Given the description of an element on the screen output the (x, y) to click on. 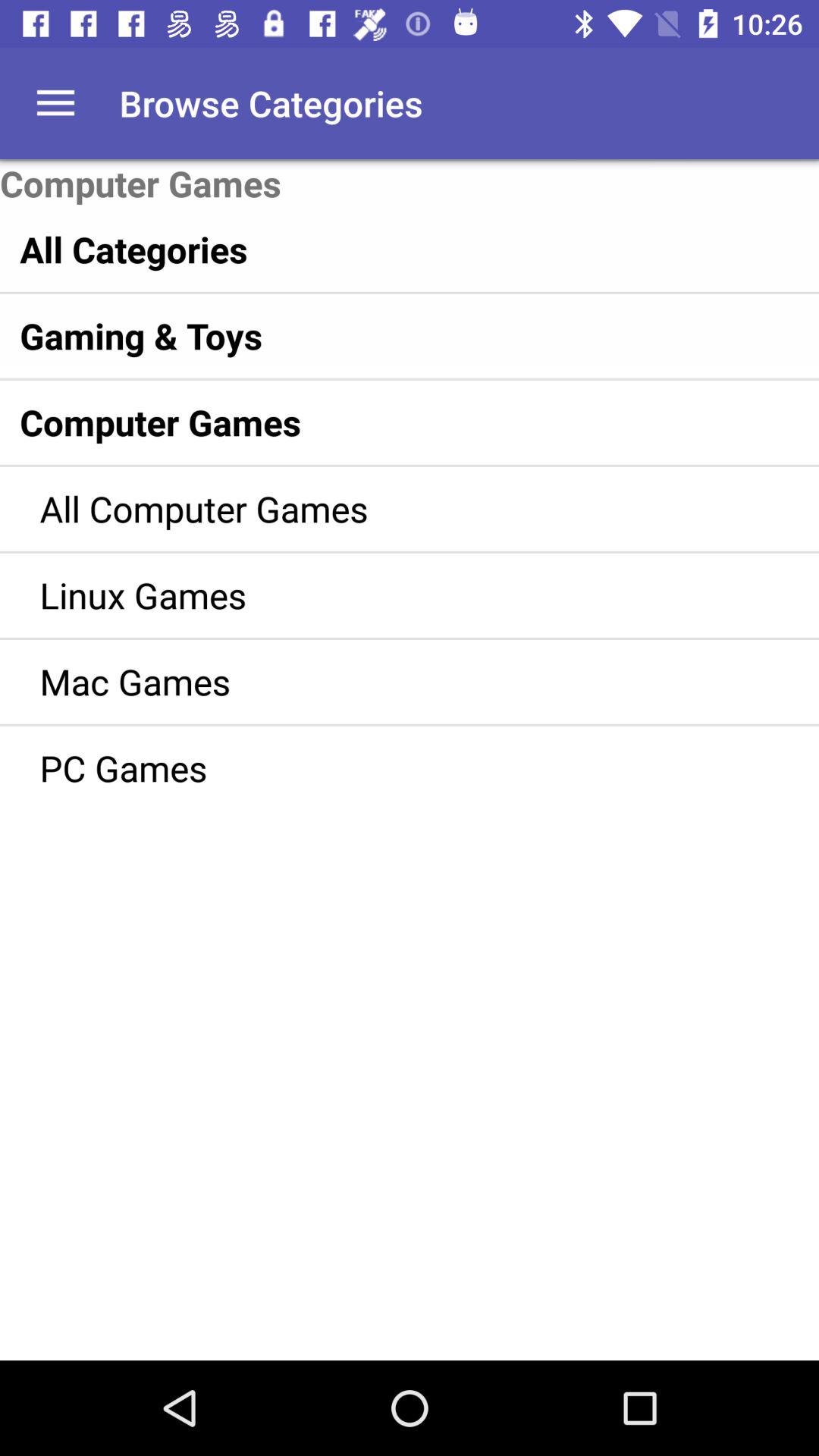
scroll to mac games icon (387, 681)
